Given the description of an element on the screen output the (x, y) to click on. 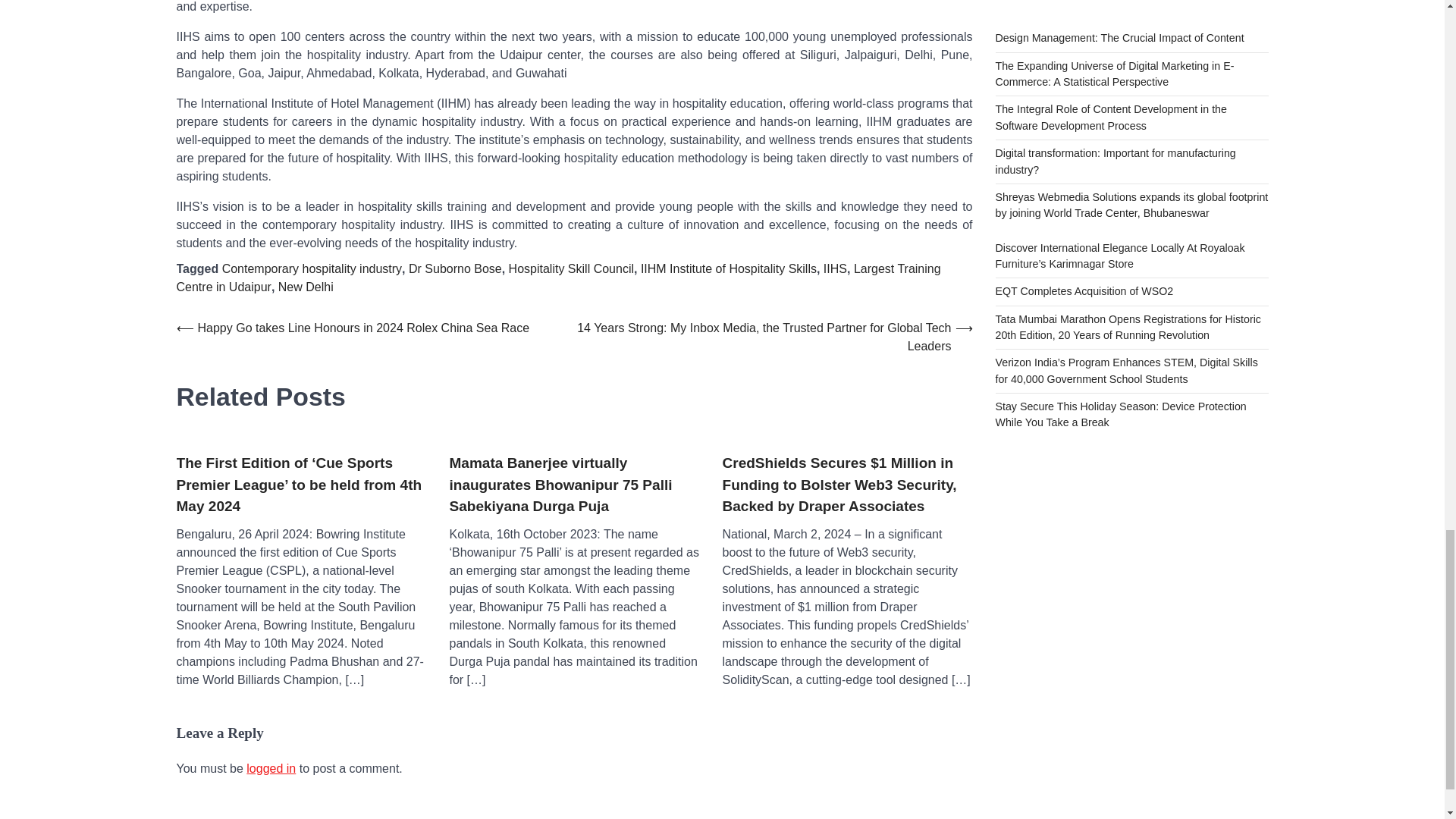
Hospitality Skill Council (570, 268)
IIHM Institute of Hospitality Skills (728, 268)
IIHS (835, 268)
logged in (270, 768)
New Delhi (305, 286)
Dr Suborno Bose (455, 268)
Contemporary hospitality industry (311, 268)
Largest Training Centre in Udaipur (558, 277)
